Given the description of an element on the screen output the (x, y) to click on. 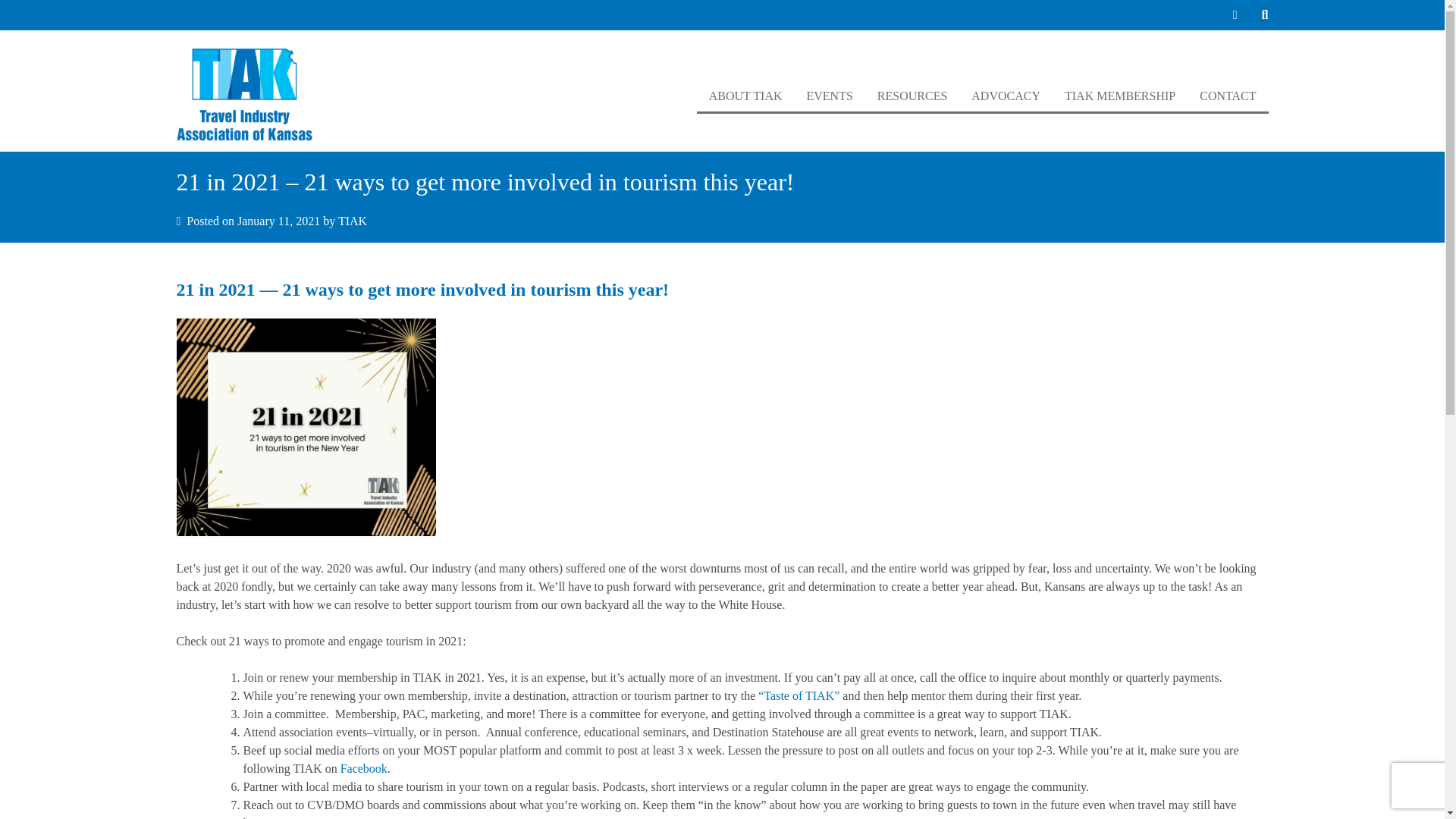
TIAK (351, 221)
Travel Industry Association of Kansas (248, 96)
RESOURCES (911, 95)
EVENTS (829, 95)
ADVOCACY (1005, 95)
CONTACT (1228, 95)
TIAK MEMBERSHIP (1120, 95)
January 11, 2021 (278, 221)
ABOUT TIAK (745, 95)
